Given the description of an element on the screen output the (x, y) to click on. 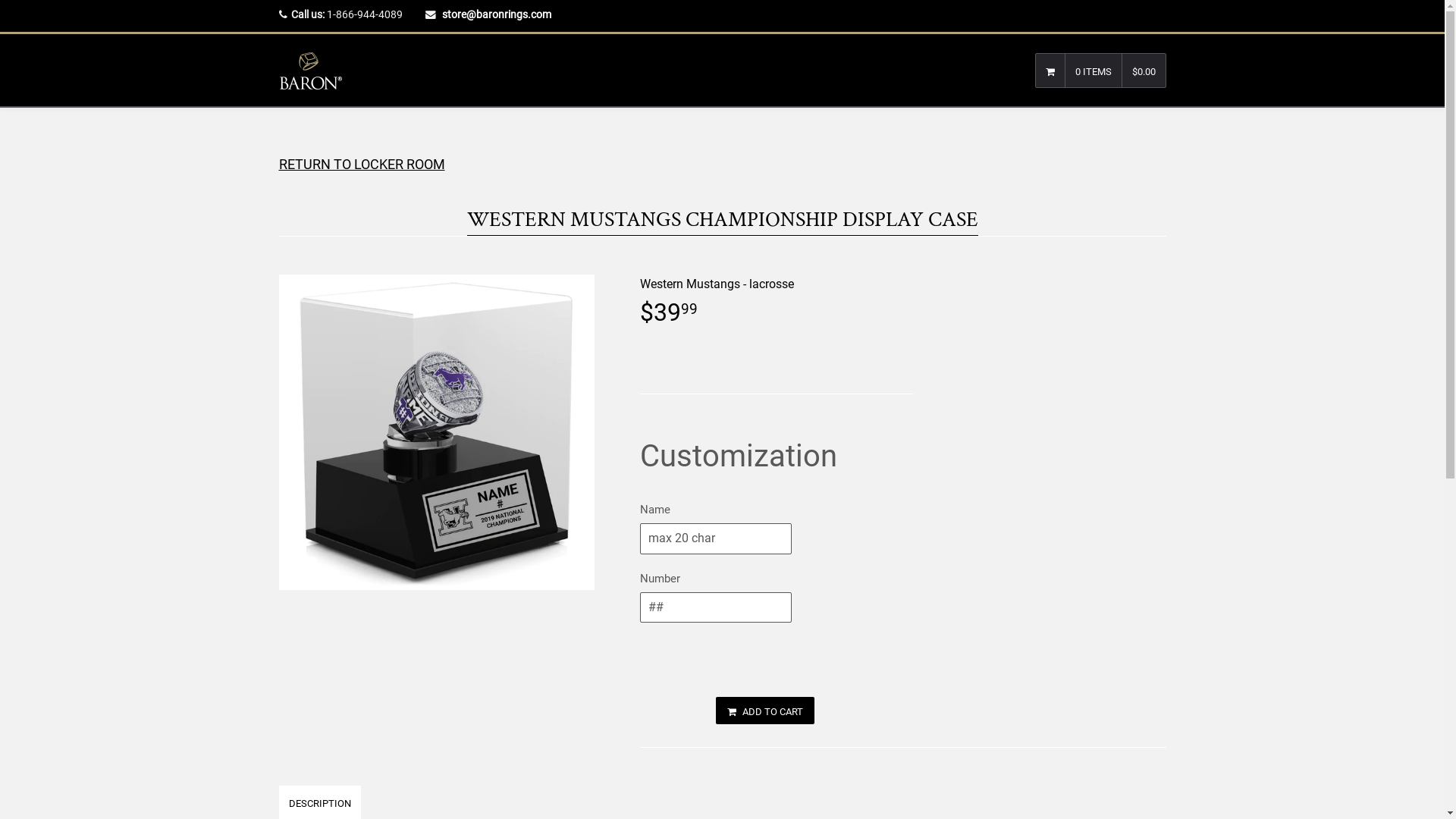
0 ITEMS $0.00 Element type: text (1100, 71)
store@baronrings.com Element type: text (495, 14)
Western Mustangs - lacrosse Element type: text (716, 283)
ADD TO CART Element type: text (764, 710)
RETURN TO LOCKER ROOM Element type: text (722, 163)
